Given the description of an element on the screen output the (x, y) to click on. 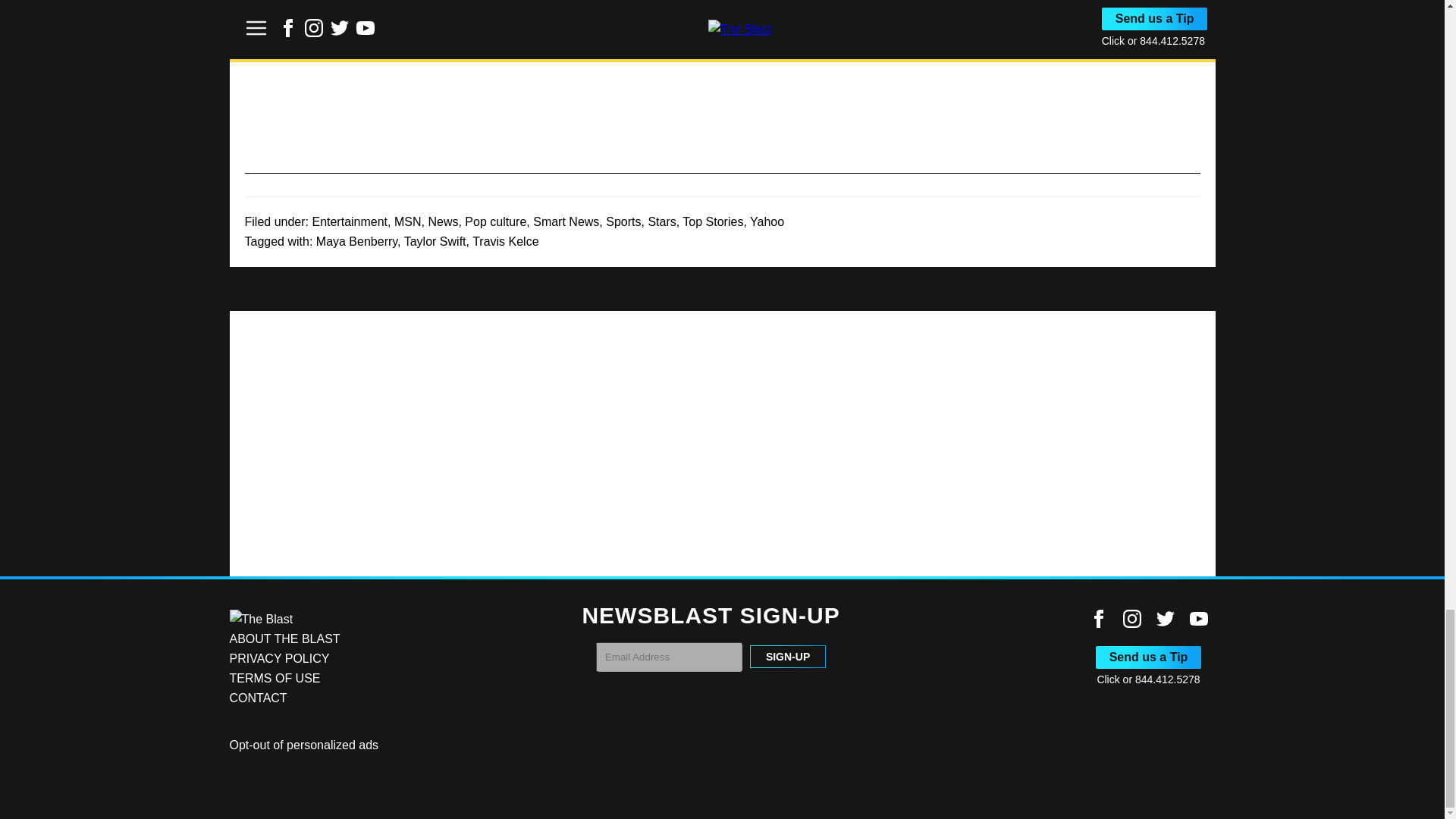
Link to Instagram (1131, 618)
Yahoo (766, 221)
Smart News (565, 221)
Maya Benberry (356, 241)
Link to Facebook (1097, 618)
Pop culture (494, 221)
SIGN-UP (787, 656)
Sports (622, 221)
Link to Twitter (1164, 618)
News (443, 221)
MSN (408, 221)
Link to Youtube (1198, 618)
Top Stories (712, 221)
Stars (661, 221)
Entertainment (349, 221)
